Given the description of an element on the screen output the (x, y) to click on. 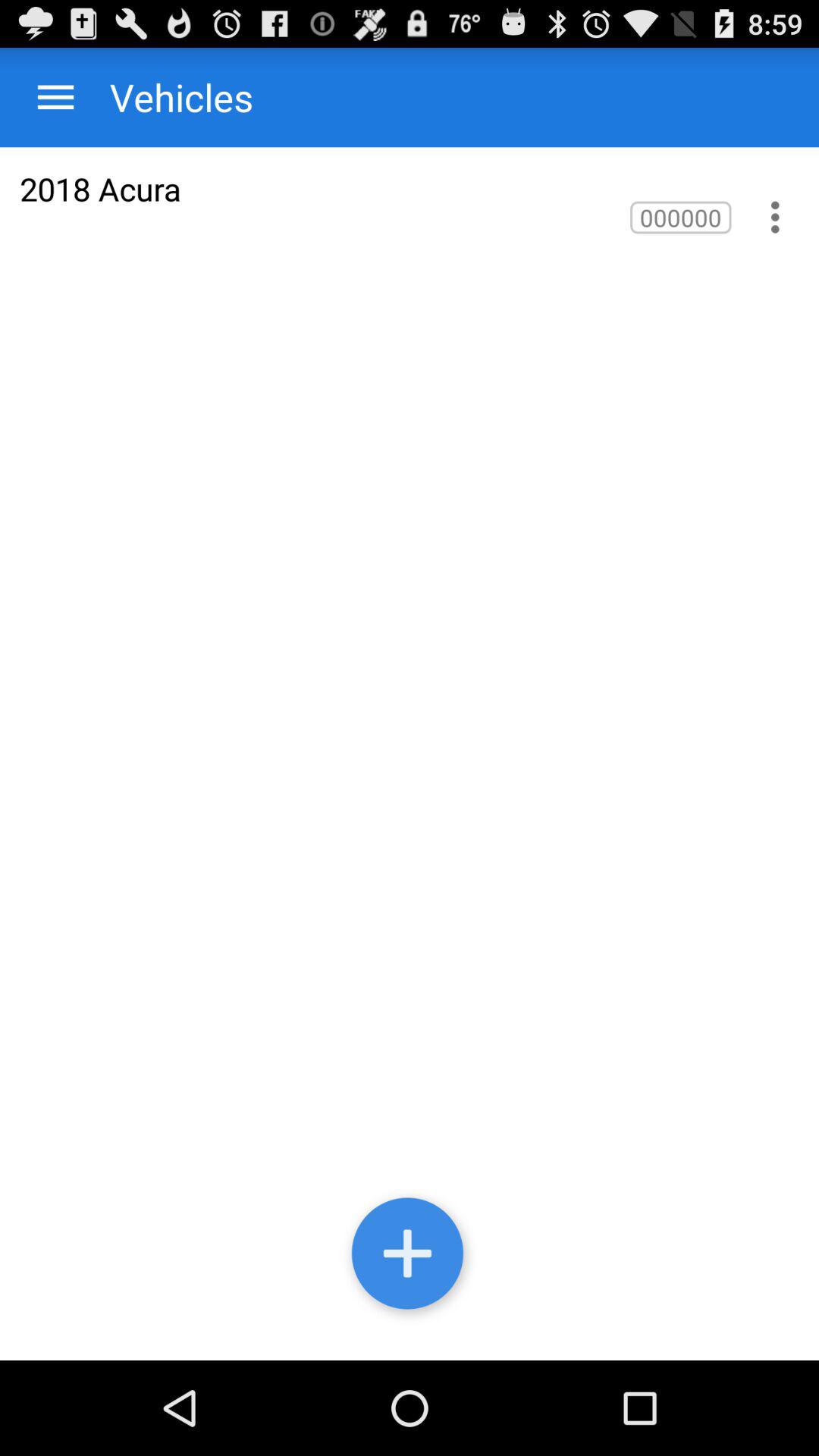
turn off icon to the left of the 000000 (99, 188)
